Given the description of an element on the screen output the (x, y) to click on. 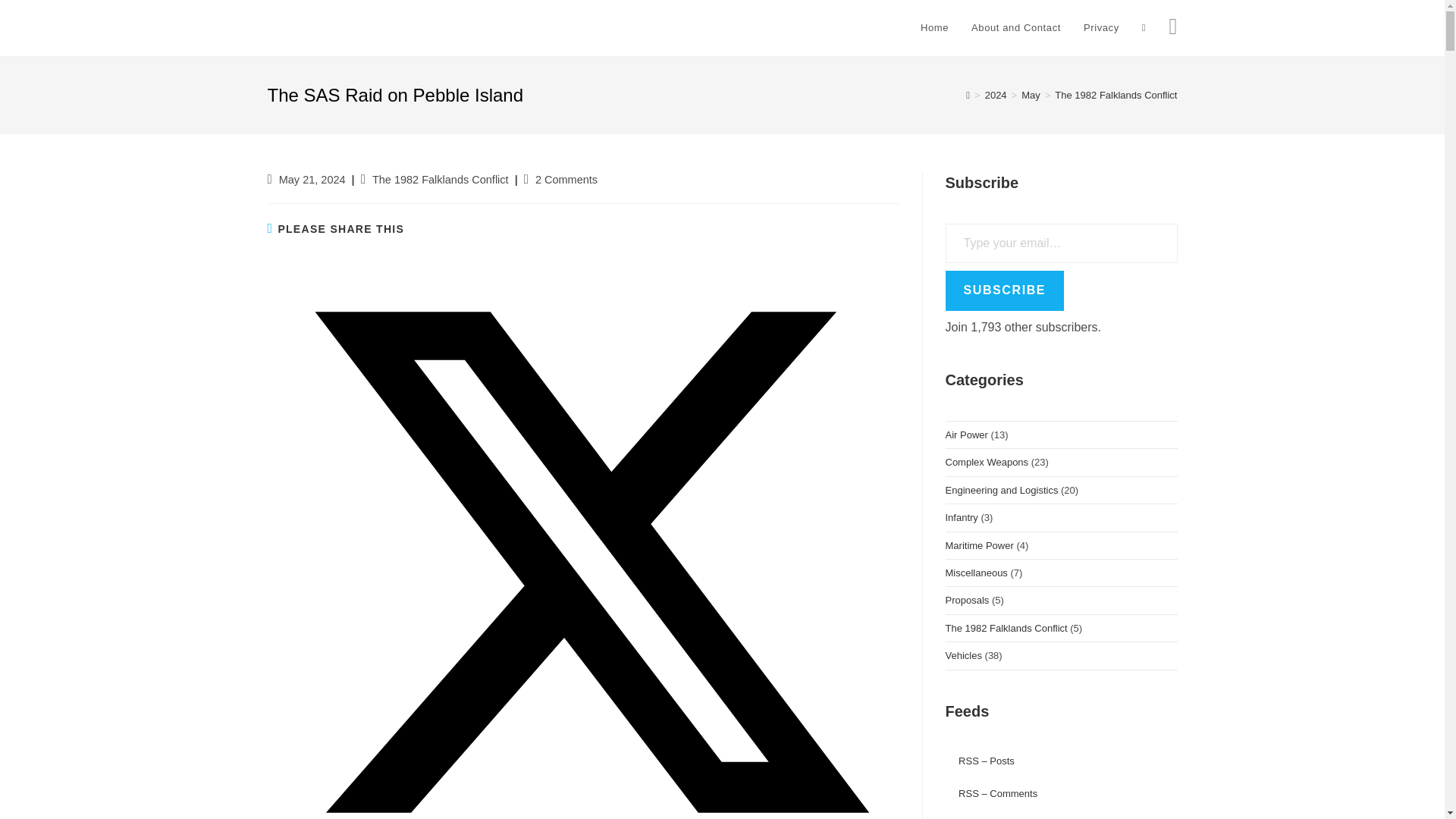
Home (933, 28)
Subscribe to comments (990, 793)
2024 (996, 94)
The 1982 Falklands Conflict (440, 179)
Subscribe to posts (978, 760)
About and Contact (1015, 28)
May (1031, 94)
The 1982 Falklands Conflict (1115, 94)
2 Comments (565, 179)
Privacy (1101, 28)
